Given the description of an element on the screen output the (x, y) to click on. 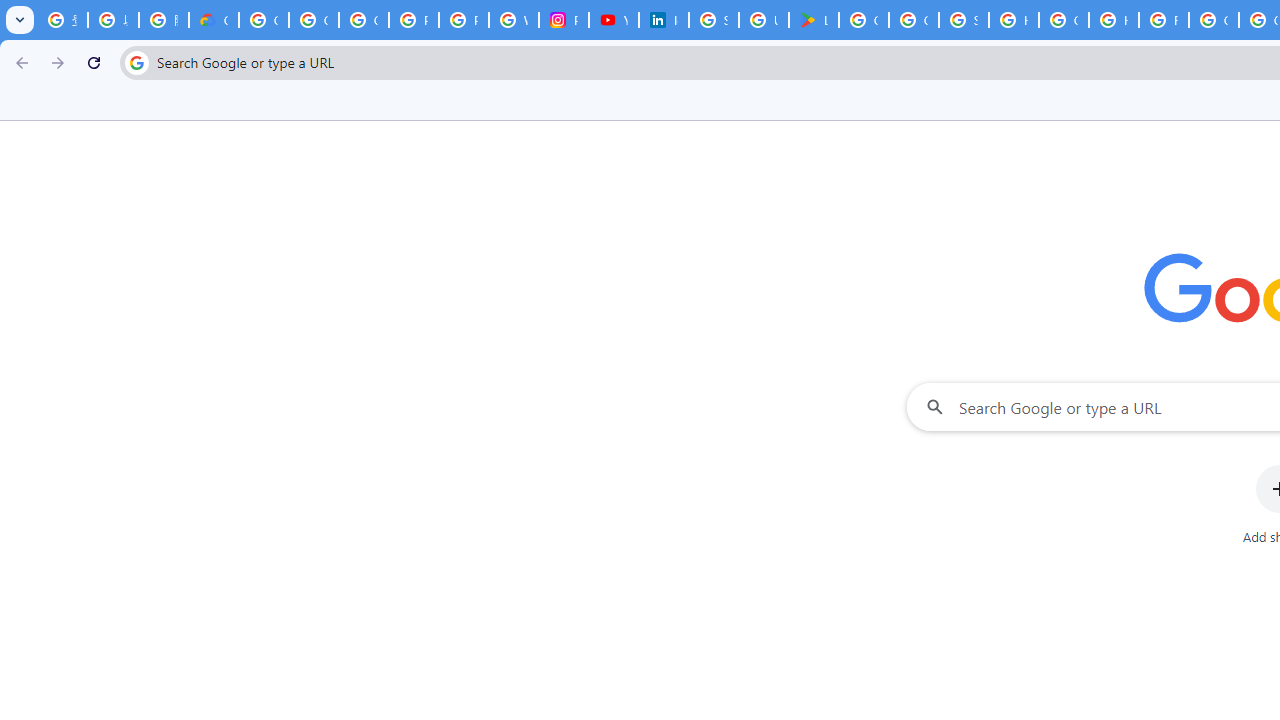
Sign in - Google Accounts (713, 20)
Back (19, 62)
System (10, 11)
Search tabs (20, 20)
Reload (93, 62)
Forward (57, 62)
Privacy Help Center - Policies Help (463, 20)
